Given the description of an element on the screen output the (x, y) to click on. 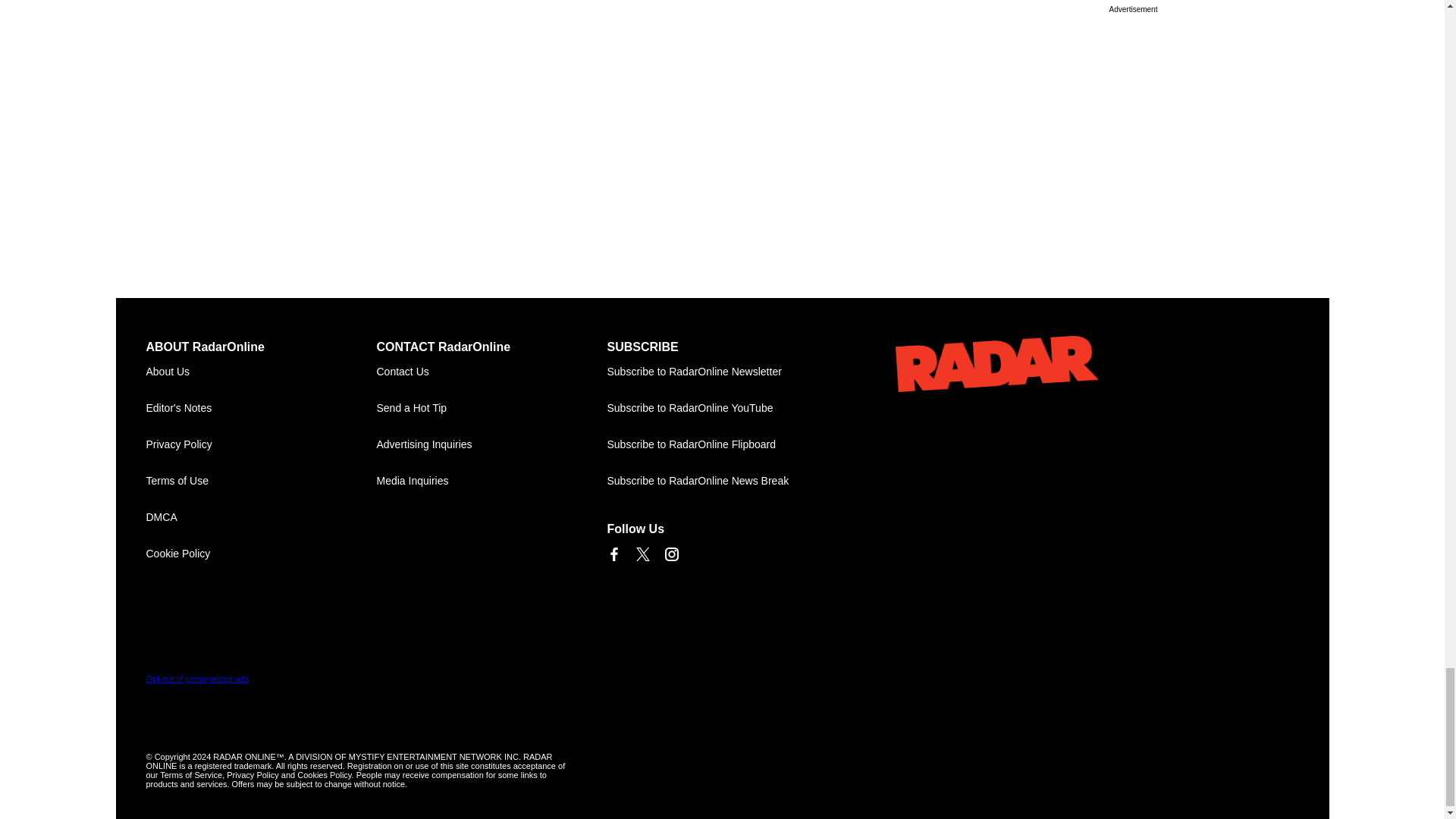
Terms of Use (260, 481)
About Us (260, 371)
Contact Us (491, 371)
Terms of Use (260, 481)
Link to Facebook (613, 554)
Subscribe (722, 371)
Cookie Policy (260, 554)
Privacy Policy (260, 444)
Send a Hot Tip (491, 408)
Advertising Inquiries (491, 444)
DMCA (260, 517)
Link to Instagram (670, 554)
DMCA (260, 517)
Link to X (641, 554)
Media Inquiries (491, 481)
